Given the description of an element on the screen output the (x, y) to click on. 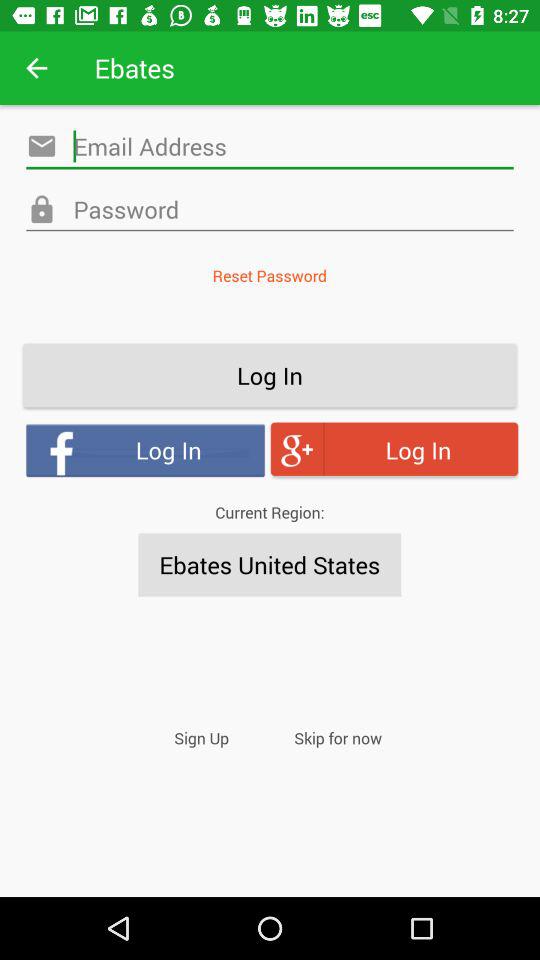
put password in (270, 209)
